Given the description of an element on the screen output the (x, y) to click on. 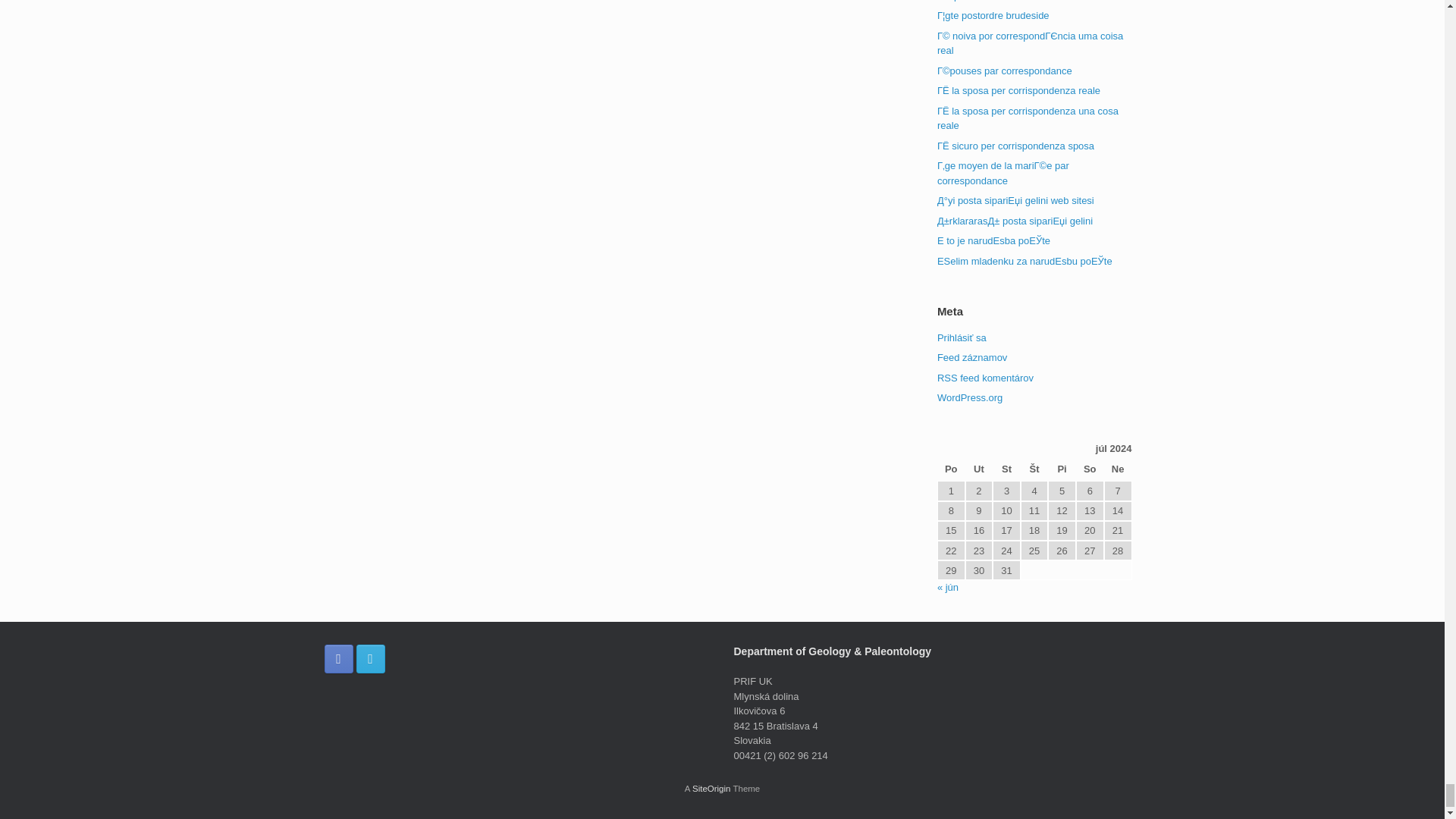
utorok (978, 470)
sobota (1089, 470)
pondelok (951, 470)
piatok (1061, 470)
streda (1006, 470)
